Given the description of an element on the screen output the (x, y) to click on. 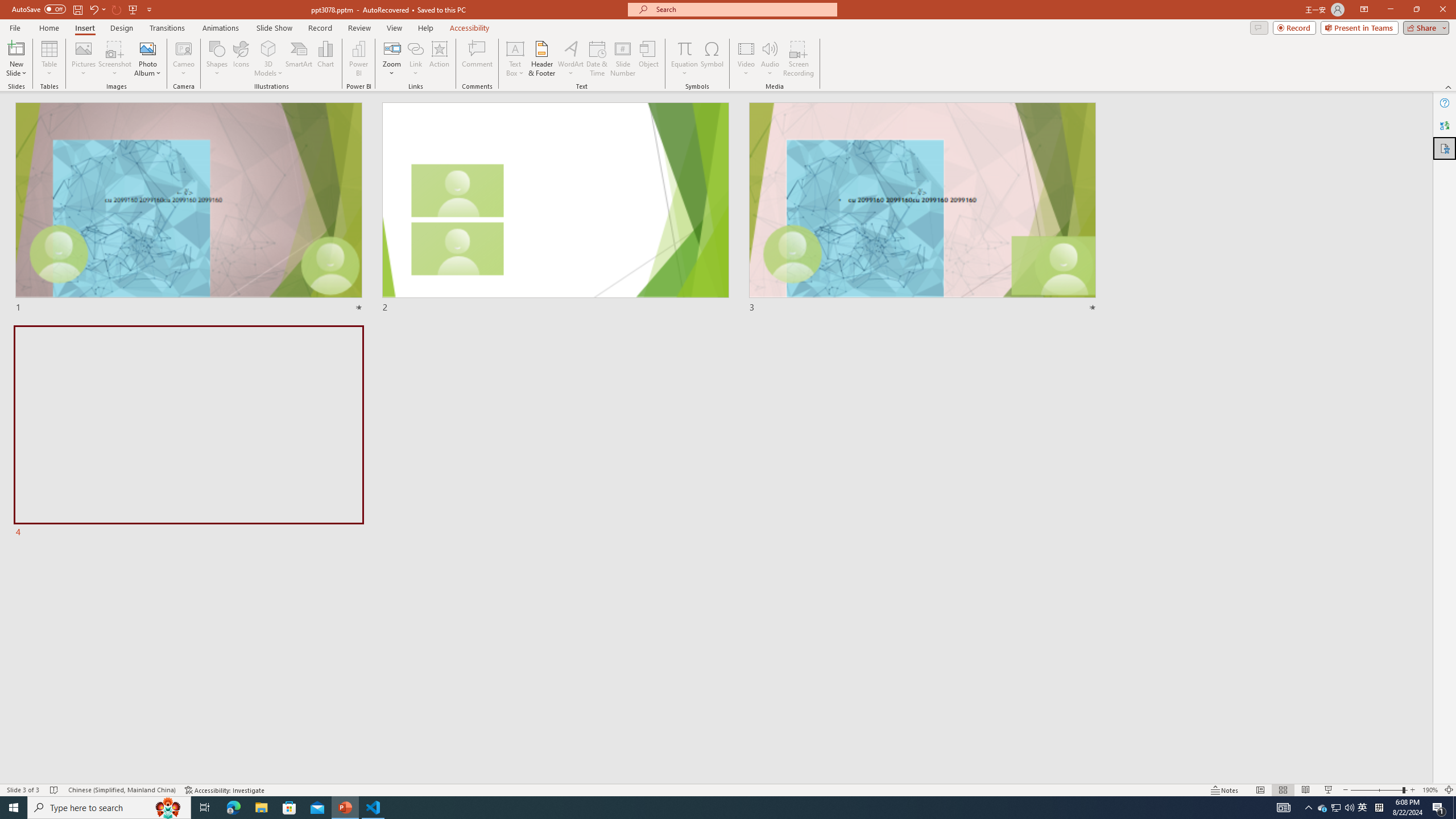
Zoom 190% (1430, 790)
SmartArt... (298, 58)
Date & Time... (596, 58)
Icons (240, 58)
Table (49, 58)
Equation (683, 48)
